Given the description of an element on the screen output the (x, y) to click on. 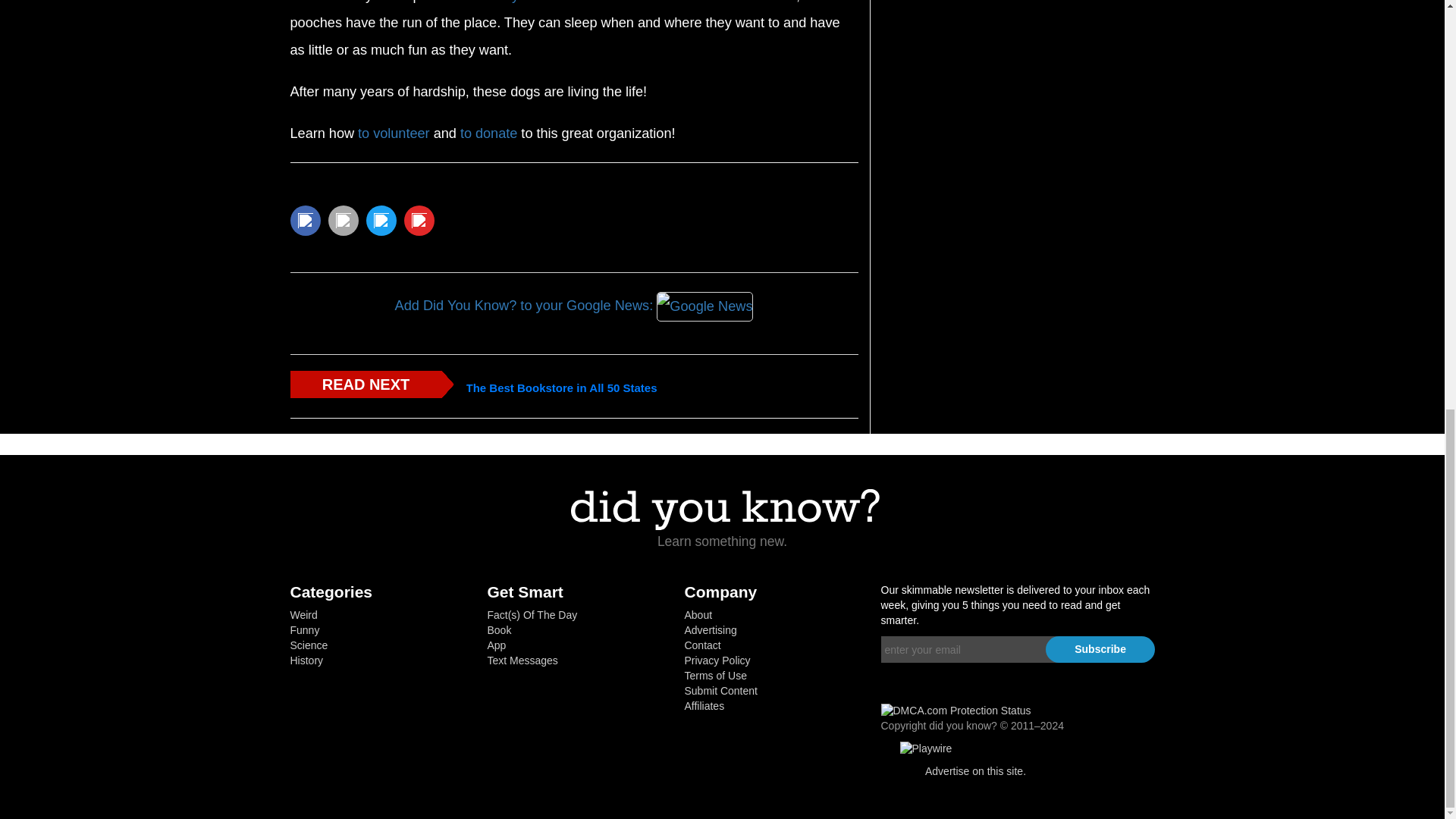
The Best Bookstore in All 50 States (560, 388)
to volunteer (393, 132)
to donate (488, 132)
Google News (704, 306)
Add Did You Know? to your Google News: (573, 306)
Subscribe (1100, 649)
READ NEXT (365, 384)
on four acres (623, 1)
DMCA.com Protection Status (955, 710)
The sanctuary (474, 1)
